Given the description of an element on the screen output the (x, y) to click on. 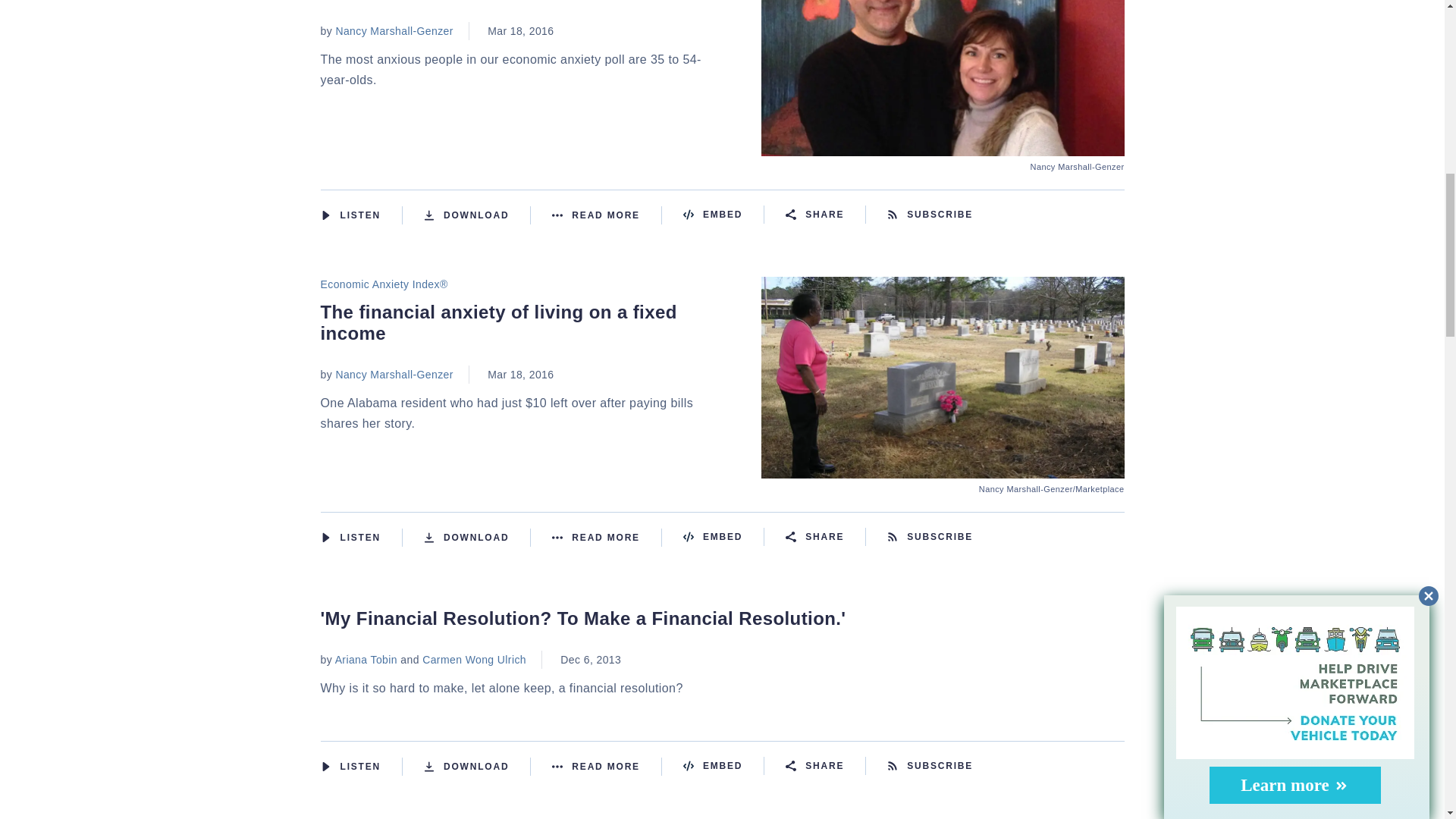
LISTEN (325, 214)
Download (477, 215)
Listen Now (360, 215)
Read More (606, 215)
The financial anxiety of living on a fixed income (942, 468)
The midlife economic anxiety crisis (942, 146)
LISTEN (325, 537)
